Given the description of an element on the screen output the (x, y) to click on. 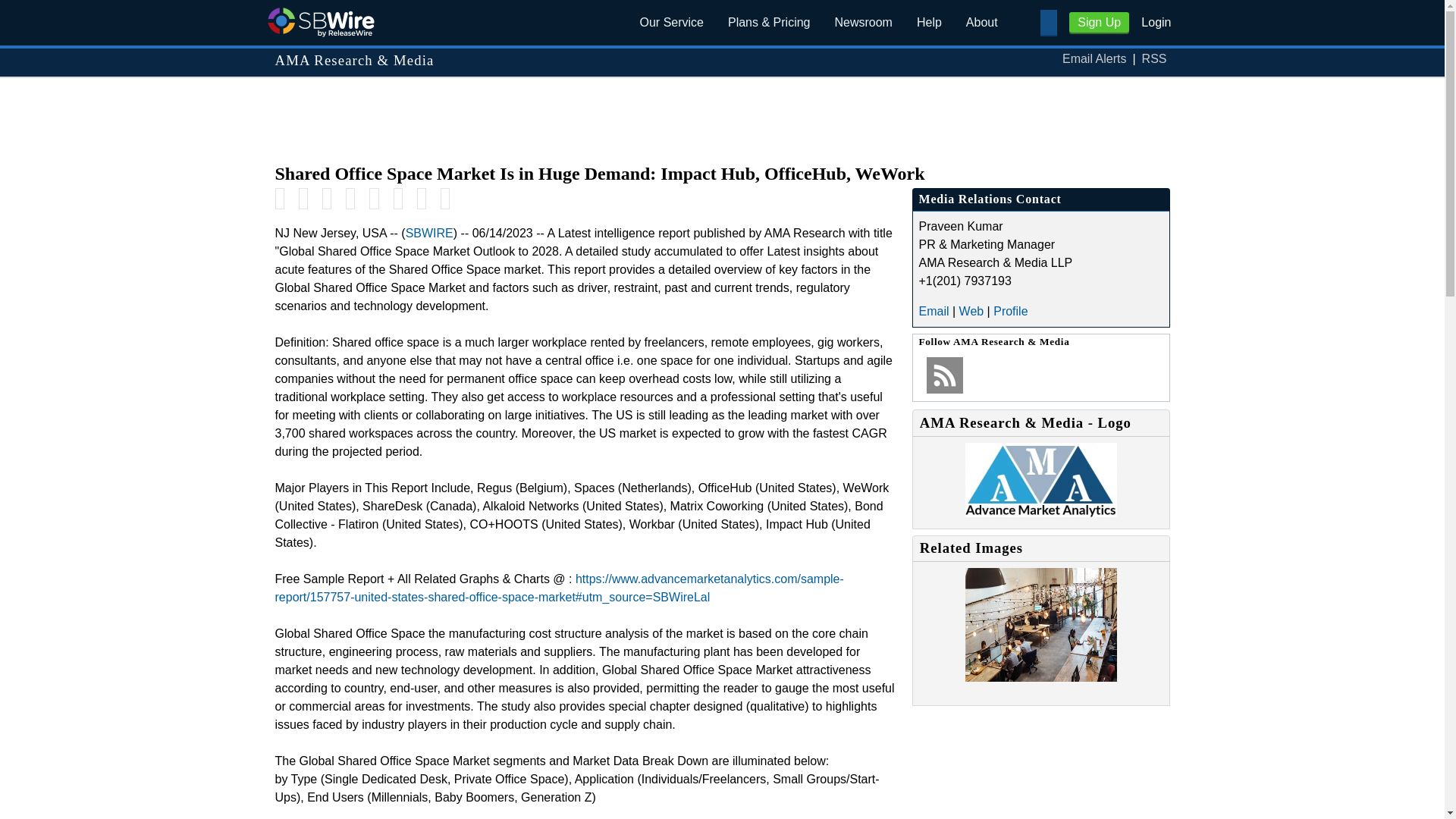
Email Alerts (1093, 58)
Shared Office Space Market (1039, 676)
Login (1155, 21)
SBWire (320, 21)
Our Service (671, 22)
Web (971, 310)
Help (928, 22)
About (981, 22)
Sign Up (1098, 22)
Newsroom (863, 22)
Email (933, 310)
Send this press release to a contact via email (279, 198)
Advertisement (721, 111)
Profile (1009, 310)
SBWIRE (429, 232)
